Given the description of an element on the screen output the (x, y) to click on. 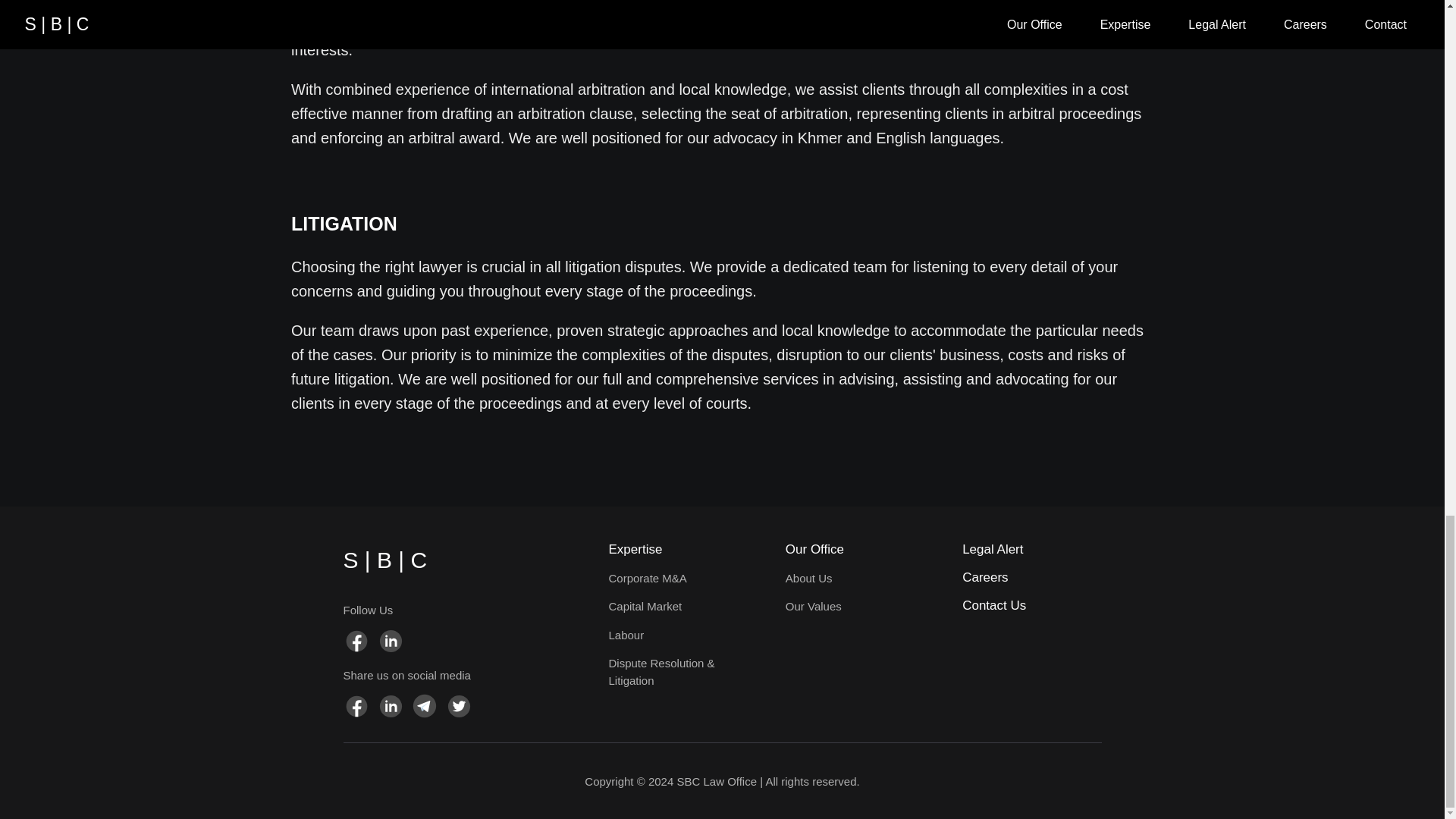
Legal Alert (1031, 548)
Expertise (677, 548)
Capital Market (677, 606)
Contact Us (1031, 604)
Our Values (855, 606)
Labour (677, 634)
About Us (855, 579)
Our Office (855, 548)
Careers (1031, 577)
